Given the description of an element on the screen output the (x, y) to click on. 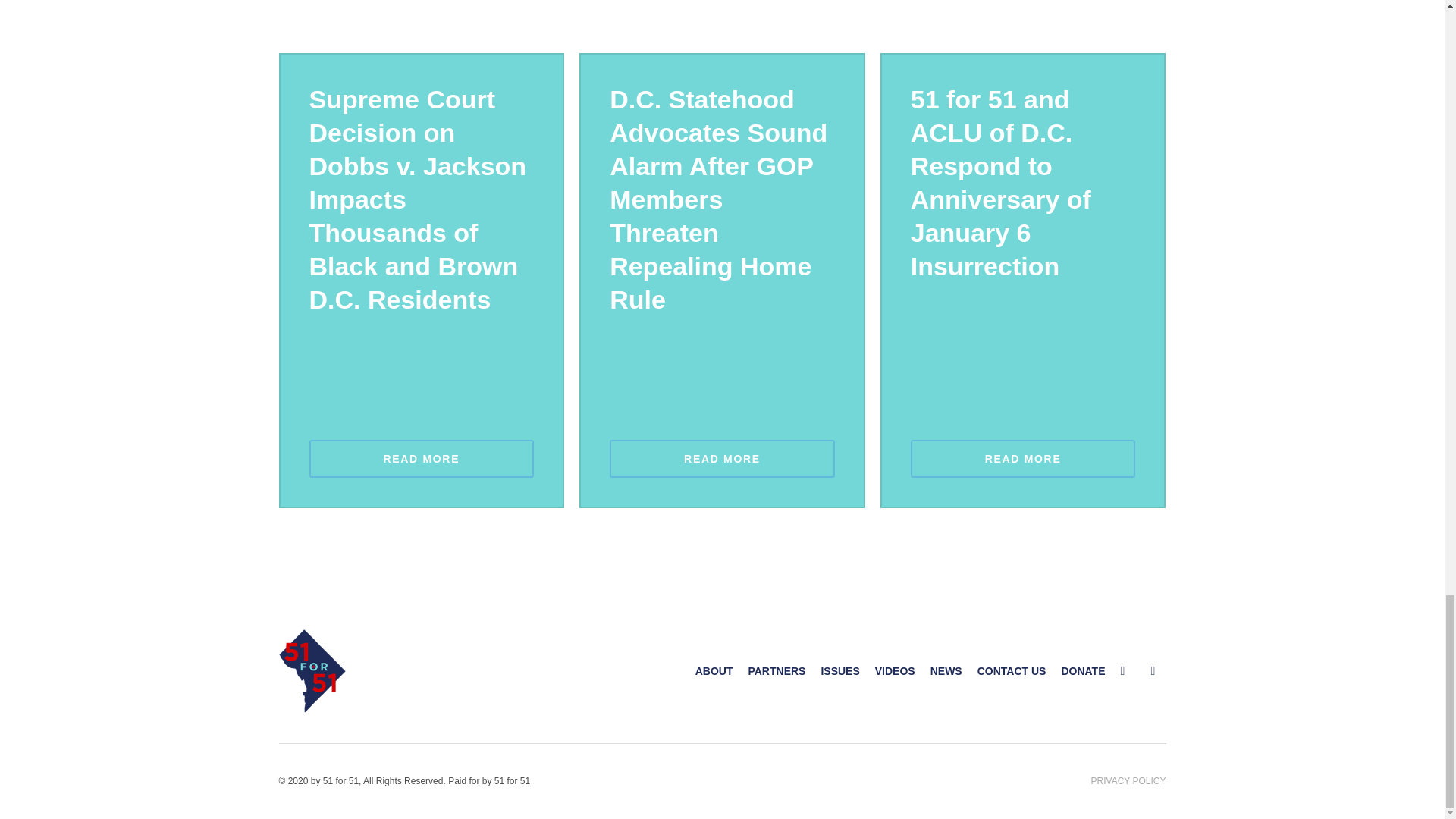
ISSUES (840, 670)
PARTNERS (776, 670)
NEWS (946, 670)
CONTACT US (1011, 670)
DONATE (1083, 670)
ABOUT (714, 670)
VIDEOS (895, 670)
PRIVACY POLICY (1128, 780)
